Given the description of an element on the screen output the (x, y) to click on. 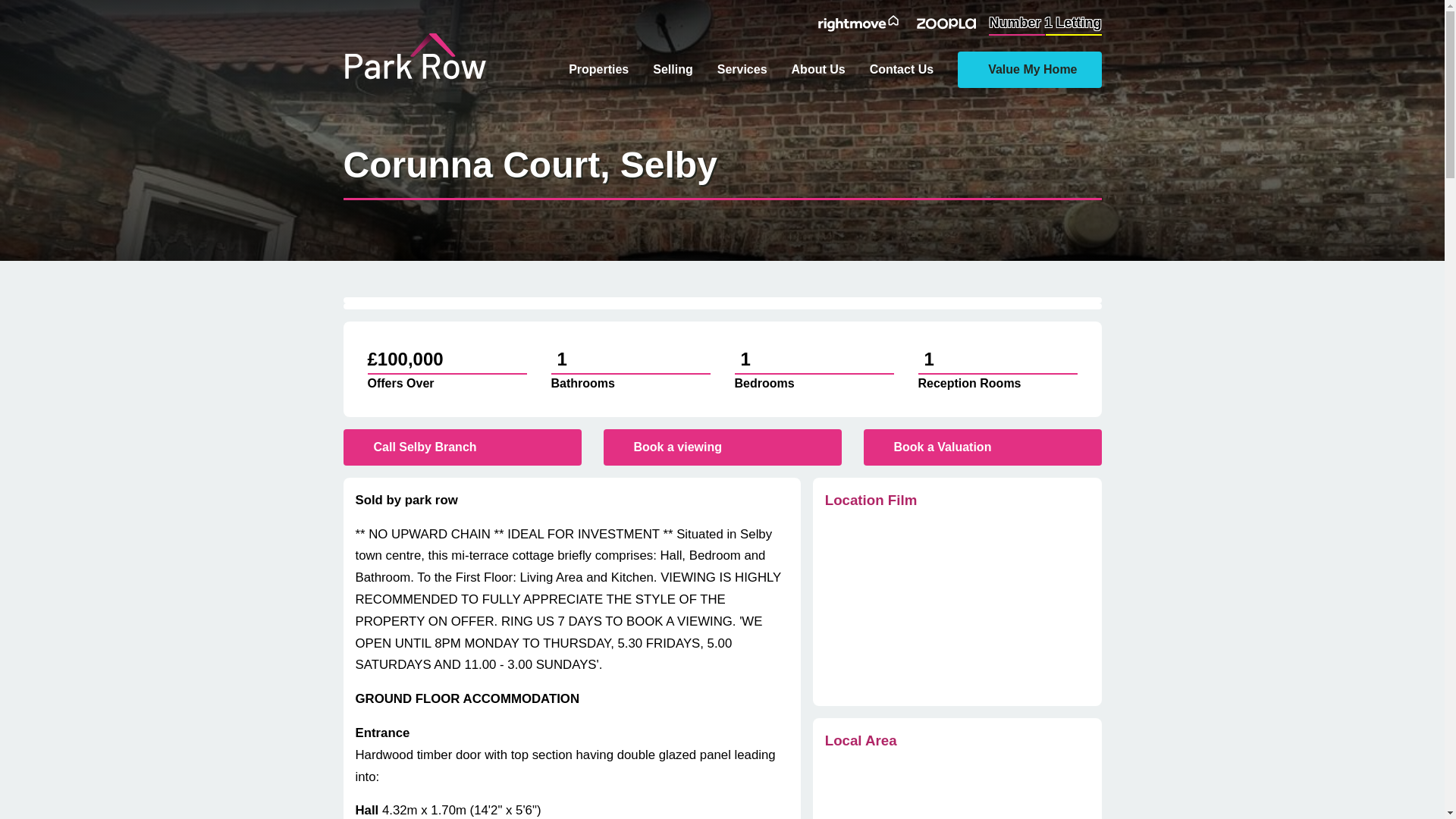
Services (742, 69)
Value My Home (1029, 69)
Selling (672, 69)
Number 1 Letting (1044, 22)
Properties (598, 69)
Contact Us (901, 69)
Book a Valuation (981, 447)
Book a viewing (722, 447)
Return to homepage (414, 83)
Call Selby Branch (461, 447)
About Us (818, 69)
